Given the description of an element on the screen output the (x, y) to click on. 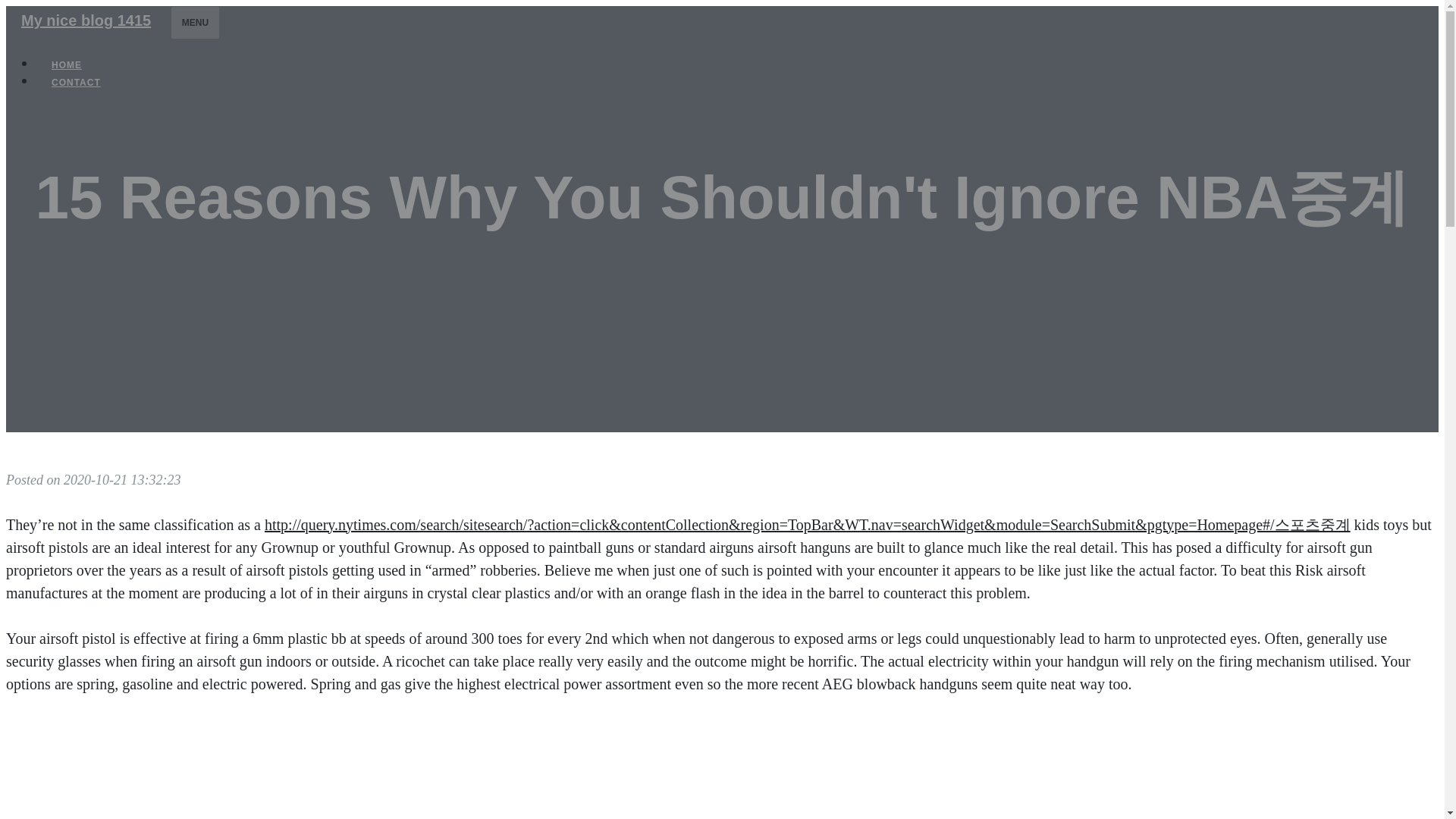
My nice blog 1415 (85, 20)
HOME (66, 64)
MENU (194, 22)
CONTACT (76, 82)
